Given the description of an element on the screen output the (x, y) to click on. 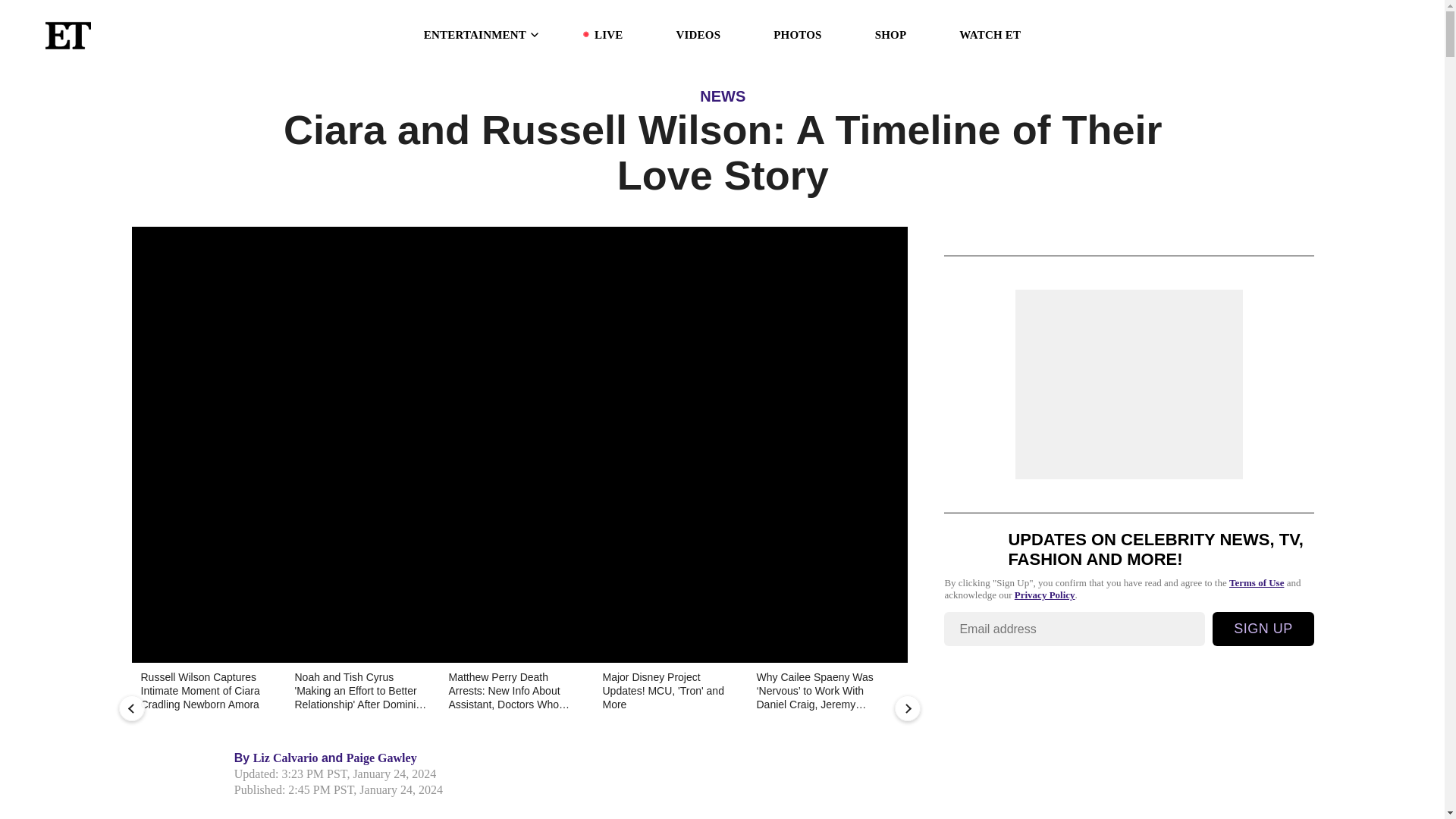
NEWS (722, 95)
ENTERTAINMENT (482, 34)
SHOP (891, 34)
Major Disney Project Updates! MCU, 'Tron' and More (668, 691)
WATCH ET (989, 34)
LIVE (608, 34)
VIDEOS (697, 34)
PHOTOS (797, 34)
